Given the description of an element on the screen output the (x, y) to click on. 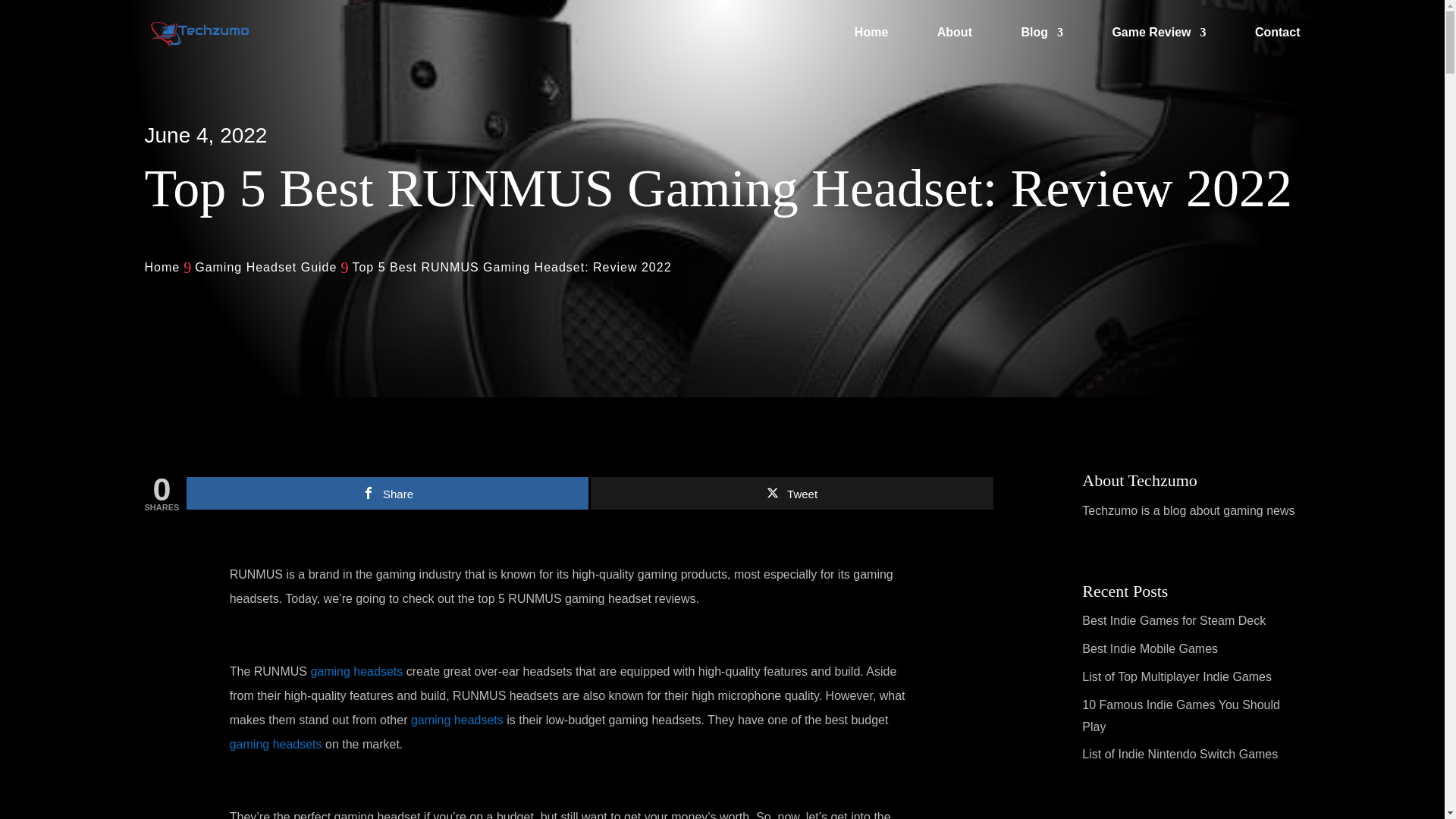
gaming headsets (275, 744)
Contact (1277, 46)
Home (161, 267)
Blog (1041, 46)
Gaming Headset Guide (265, 267)
About (954, 46)
Game Review (1158, 46)
gaming headsets (456, 719)
Top 5 Best RUNMUS Gaming Headset: Review 2022 (511, 267)
gaming headsets (356, 671)
